Given the description of an element on the screen output the (x, y) to click on. 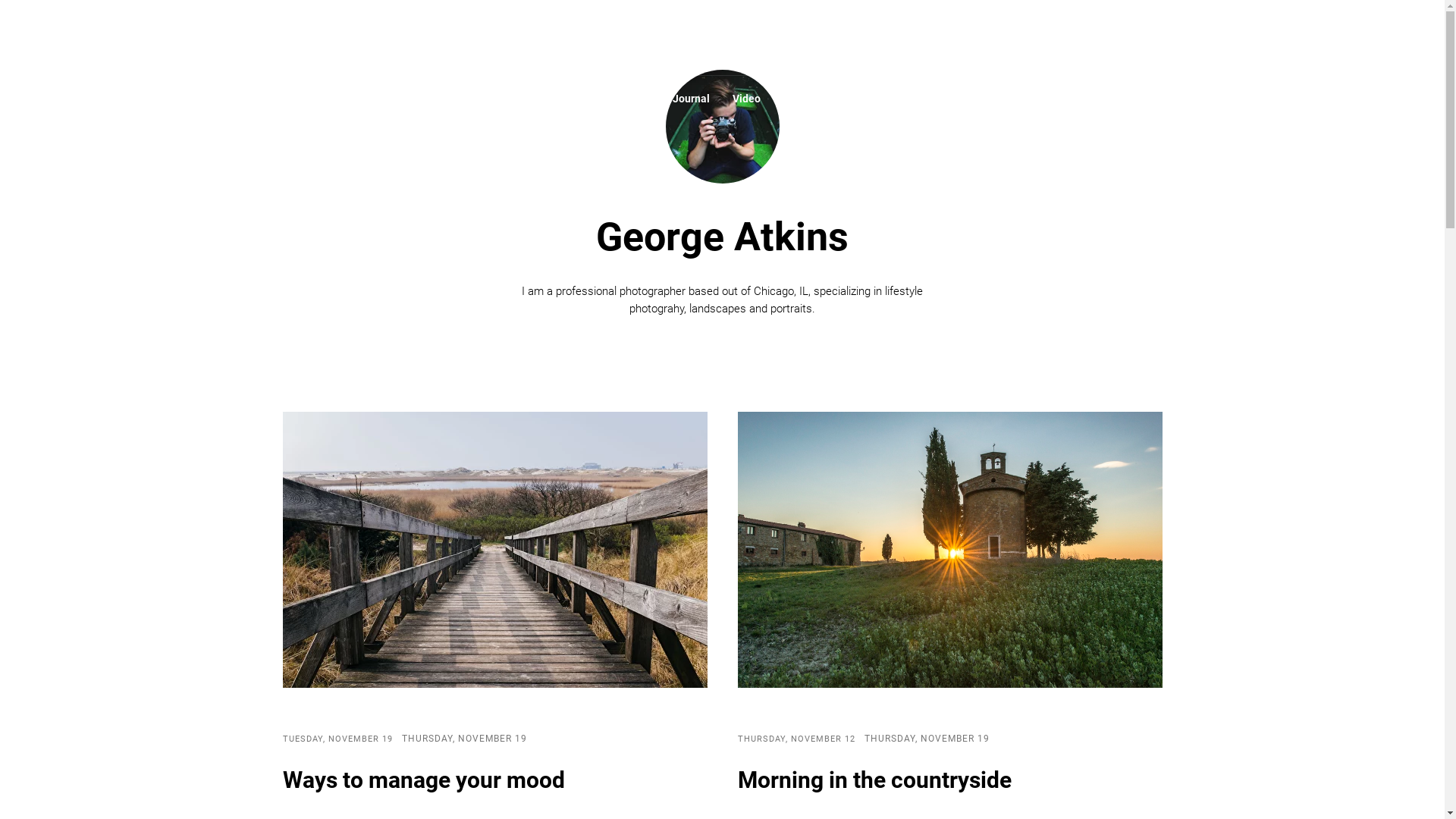
Contacts Element type: text (849, 98)
Main Element type: text (585, 98)
BIKEPACKING KYRGYZSTAN Element type: text (721, 37)
About Element type: text (634, 98)
Tour Element type: text (793, 98)
SUPPORT Element type: text (1363, 37)
Journal Element type: text (690, 98)
Video Element type: text (746, 98)
